Given the description of an element on the screen output the (x, y) to click on. 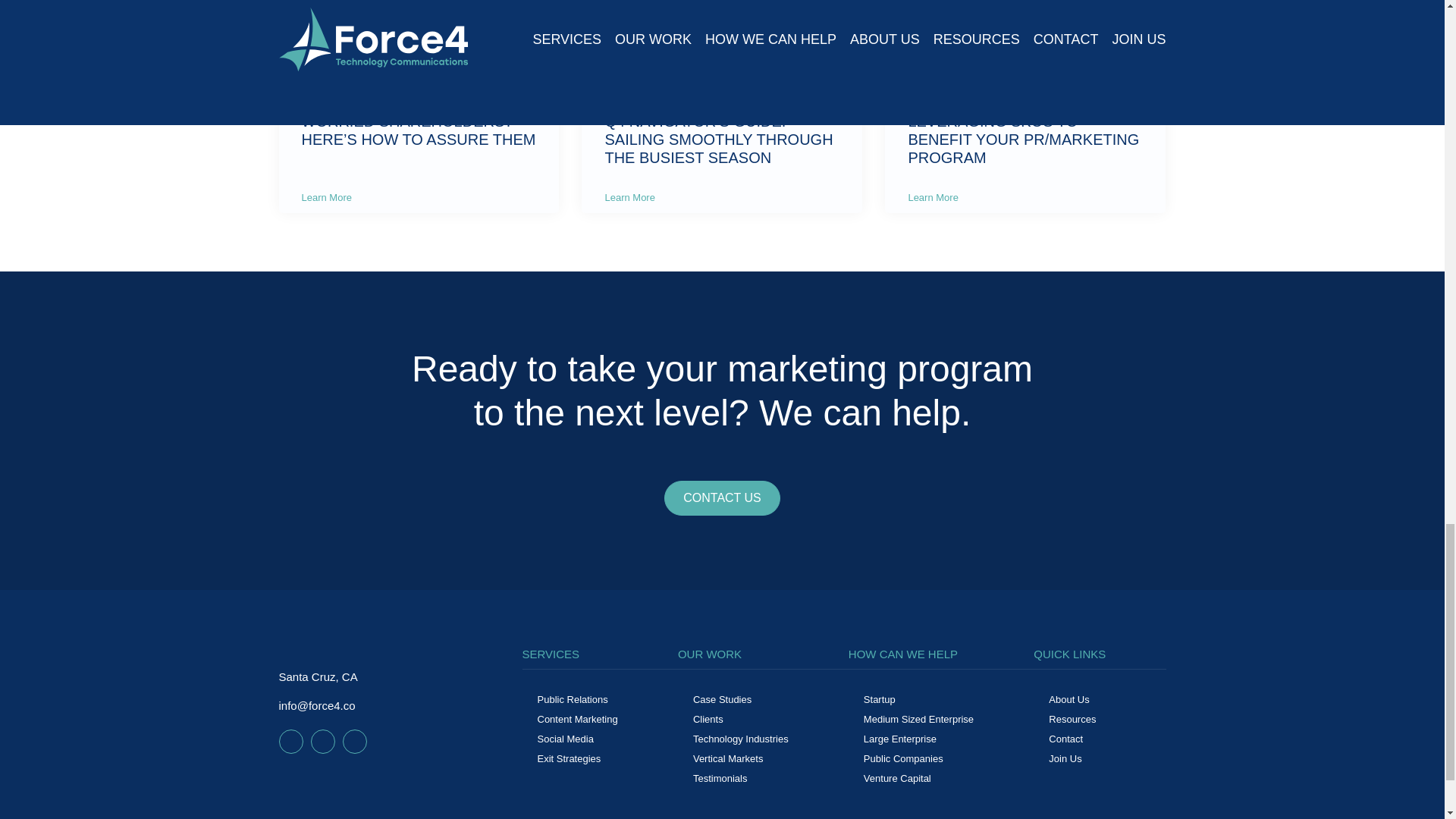
Content Marketing (577, 718)
Social Media (564, 738)
CONTACT US (721, 497)
Case Studies (722, 699)
Clients (708, 718)
Public Relations (572, 699)
Technology Industries (741, 738)
Exit Strategies (568, 758)
